Given the description of an element on the screen output the (x, y) to click on. 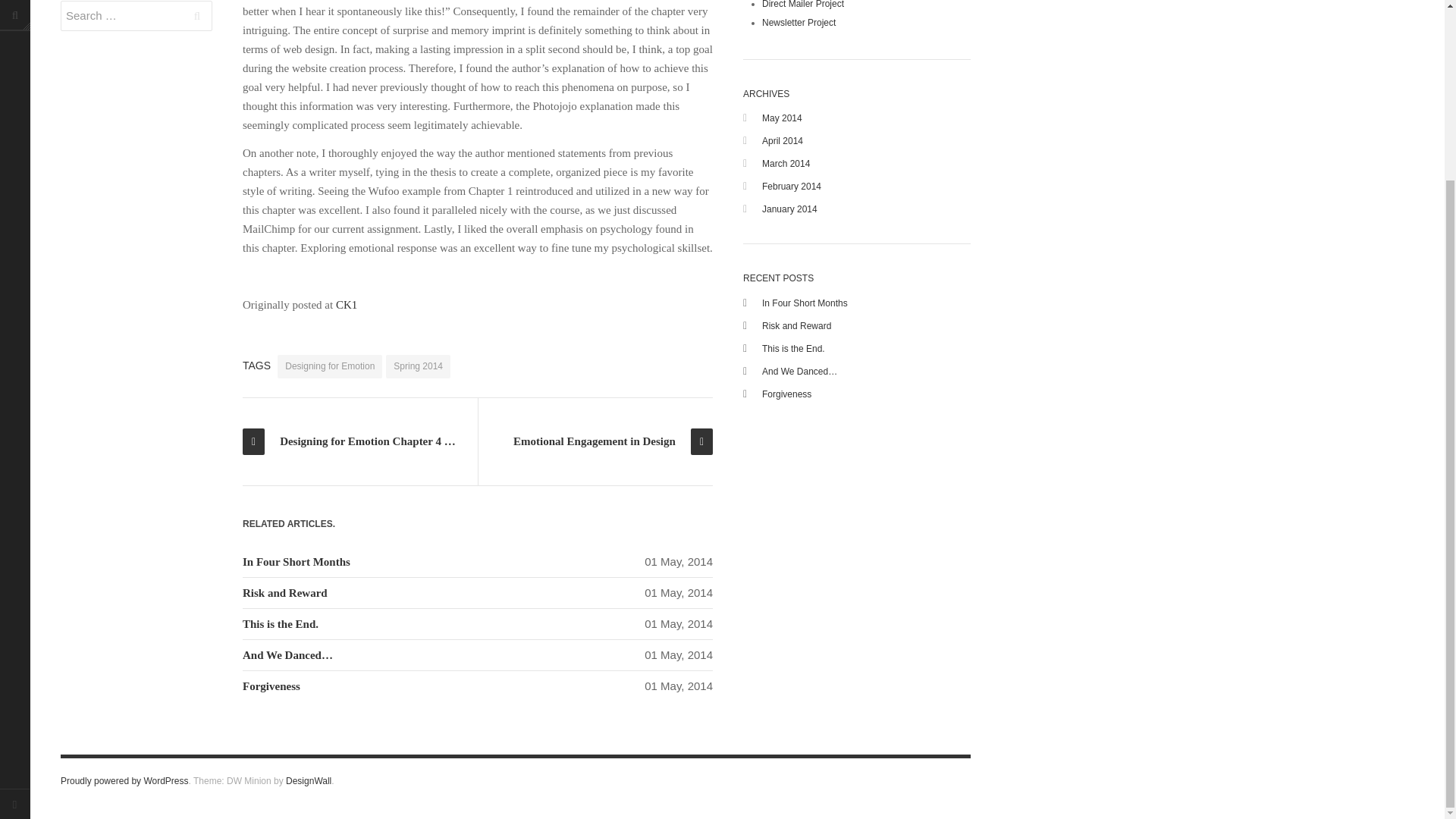
This is the End. (280, 623)
A Semantic Personal Publishing Platform (125, 780)
Proudly powered by WordPress (125, 780)
Search (197, 15)
This is the End. (793, 348)
Forgiveness (271, 686)
Search (197, 15)
Forgiveness (785, 394)
April 2014 (782, 140)
May 2014 (781, 118)
